Given the description of an element on the screen output the (x, y) to click on. 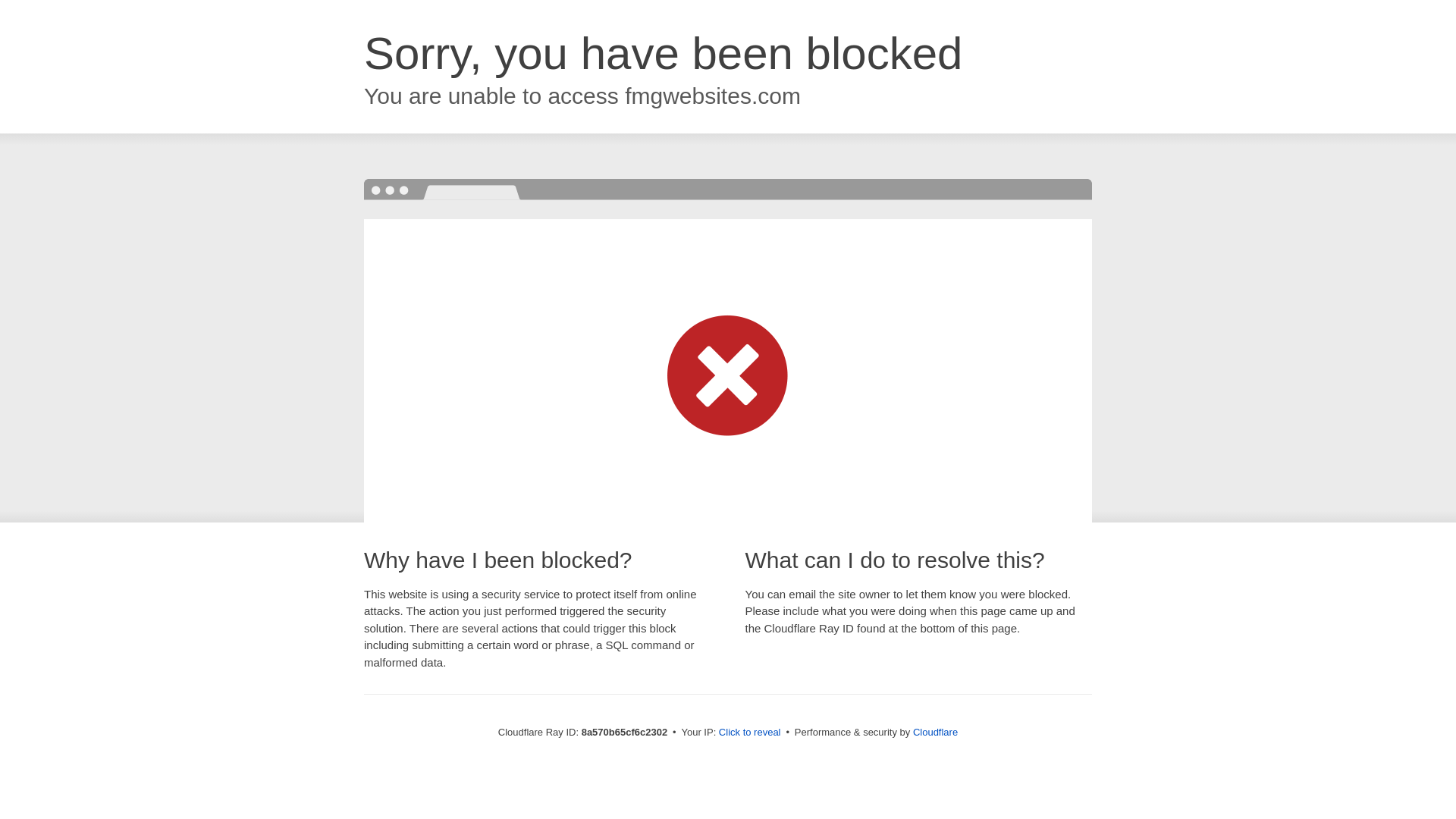
Cloudflare (935, 731)
Click to reveal (749, 732)
